Given the description of an element on the screen output the (x, y) to click on. 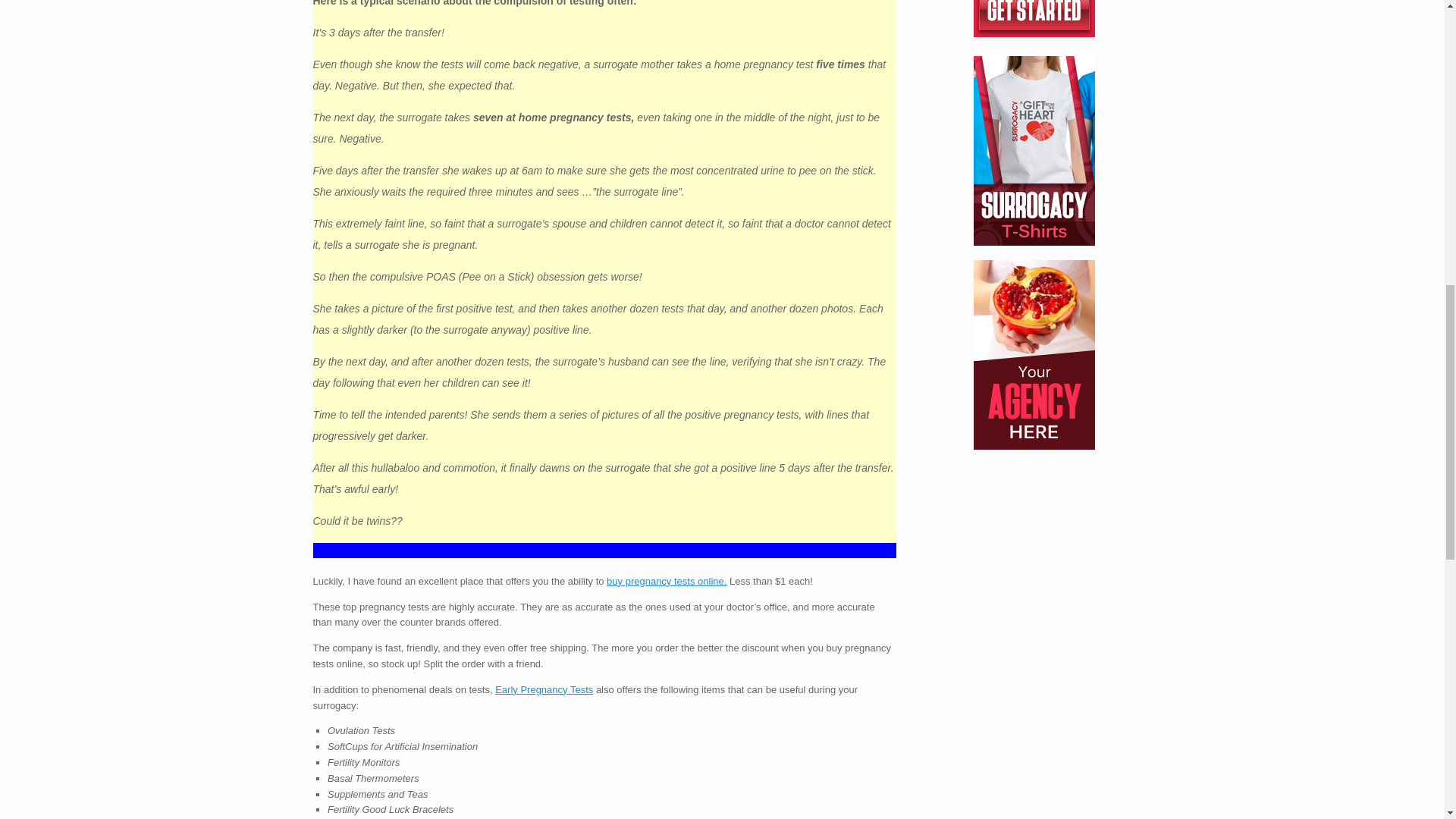
Surrogacy Advertising (1034, 354)
Surrogacy T-Shirts (1034, 150)
